Given the description of an element on the screen output the (x, y) to click on. 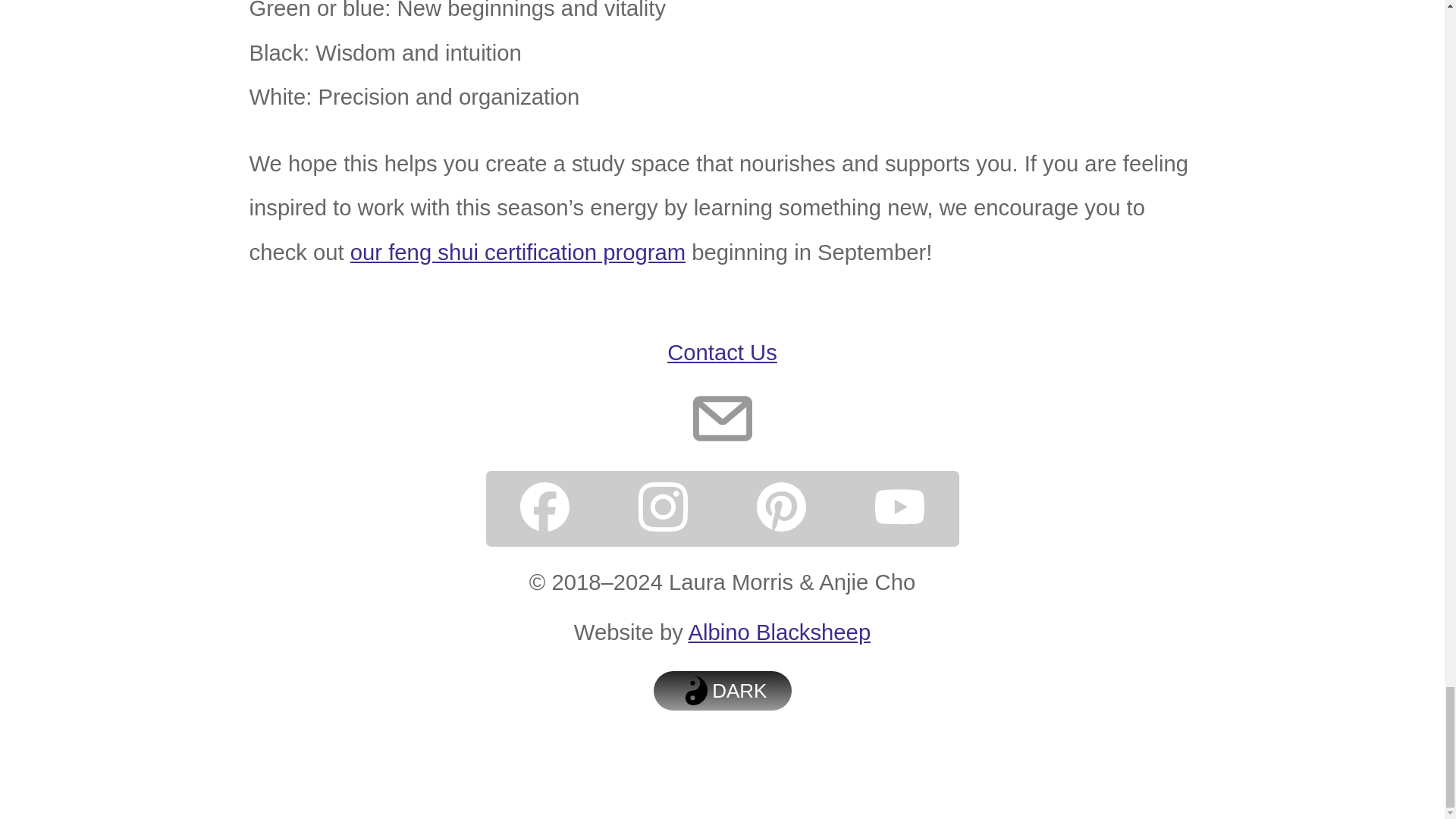
our feng shui certification program (517, 252)
Instagram  (663, 508)
Albino Blacksheep (779, 631)
Facebook  (544, 508)
Pinterest  (781, 508)
YouTube  (899, 508)
